Given the description of an element on the screen output the (x, y) to click on. 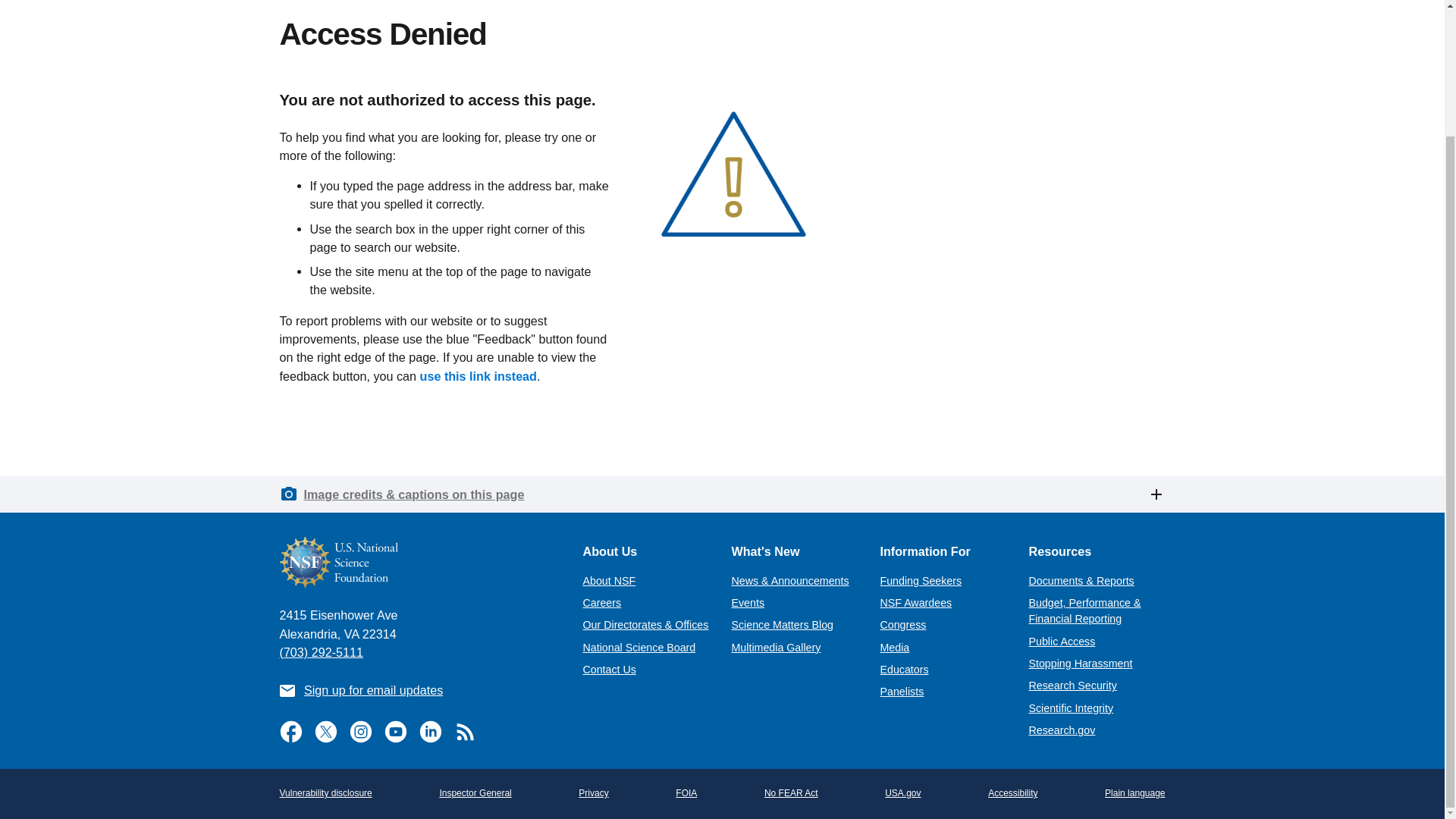
Funding Seekers (919, 580)
Congress (902, 624)
NSF Awardees (915, 603)
Media (893, 647)
Science Matters Blog (781, 624)
About NSF (608, 580)
Sign up for email updates (373, 689)
Careers (601, 603)
National Science Board (638, 647)
use this link instead (478, 376)
